Given the description of an element on the screen output the (x, y) to click on. 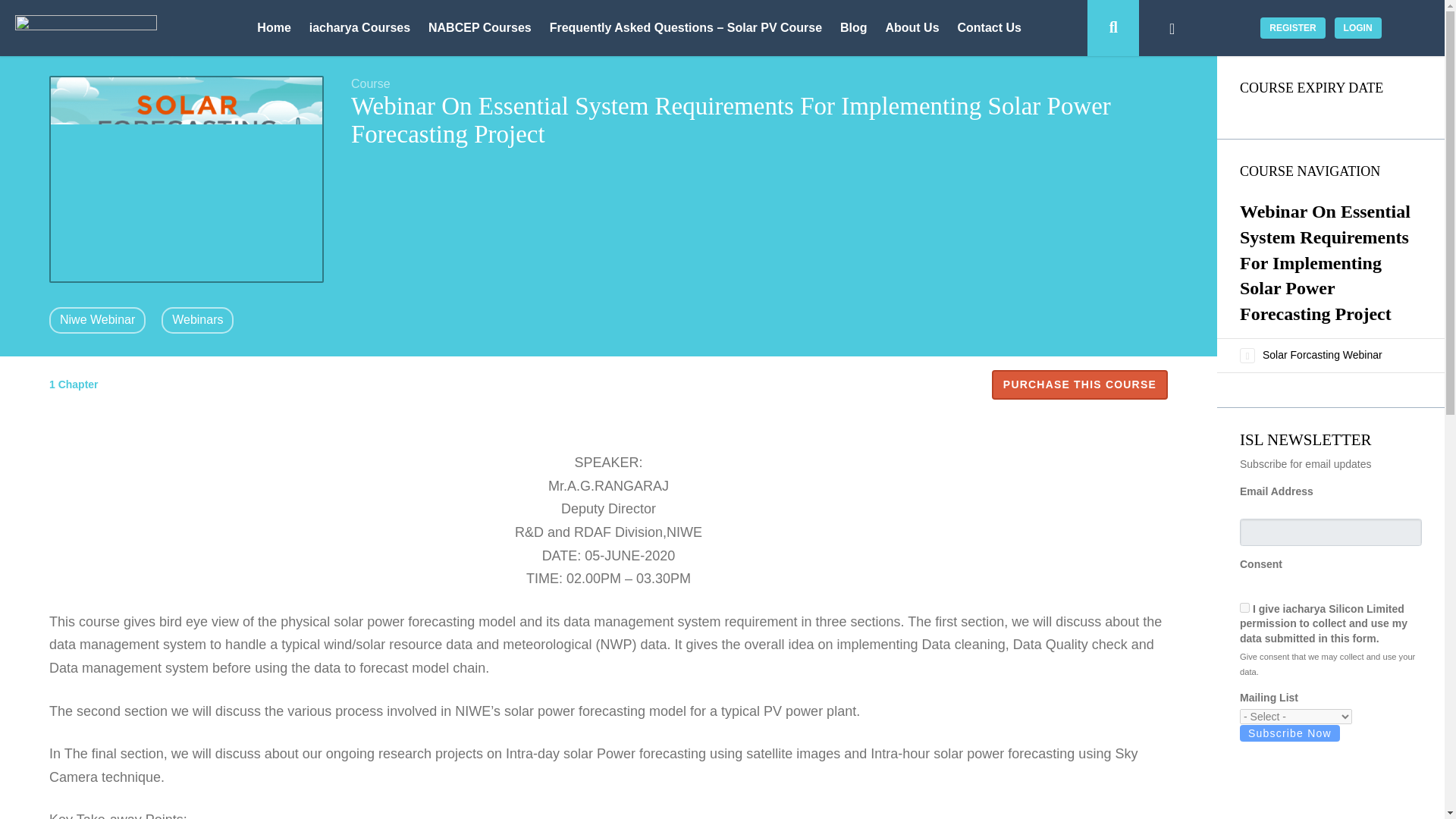
Subscribe Now (1289, 733)
Webinars (196, 319)
1 (1244, 607)
Purchase this Course (1079, 384)
LOGIN (1358, 27)
Search (1112, 28)
Home (273, 29)
Purchase this Course (1079, 384)
Solar Forcasting Webinar (1321, 354)
